Given the description of an element on the screen output the (x, y) to click on. 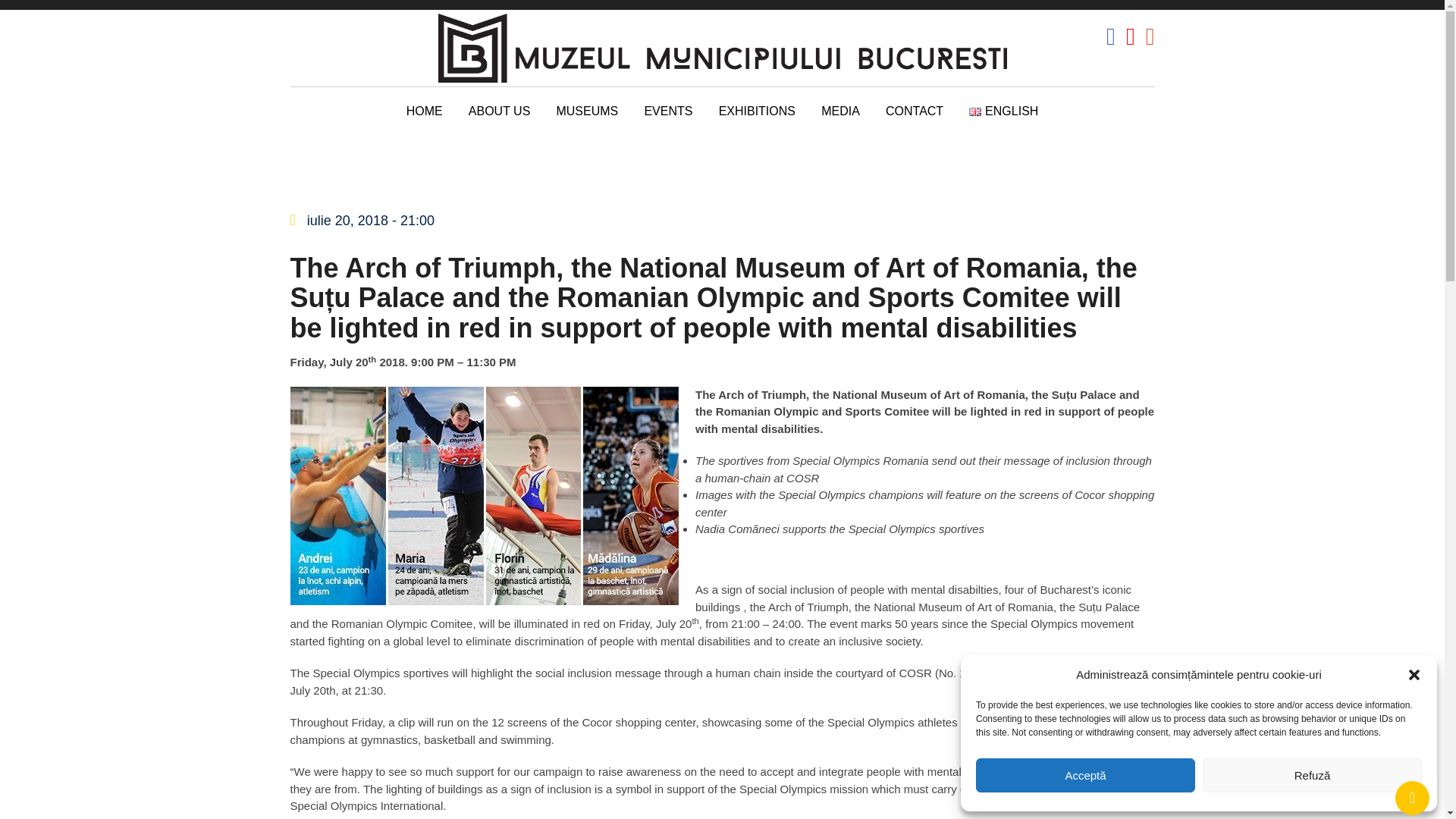
EXHIBITIONS (756, 118)
ABOUT US (499, 118)
MUSEUMS (586, 118)
HOME (424, 118)
EVENTS (667, 118)
